Given the description of an element on the screen output the (x, y) to click on. 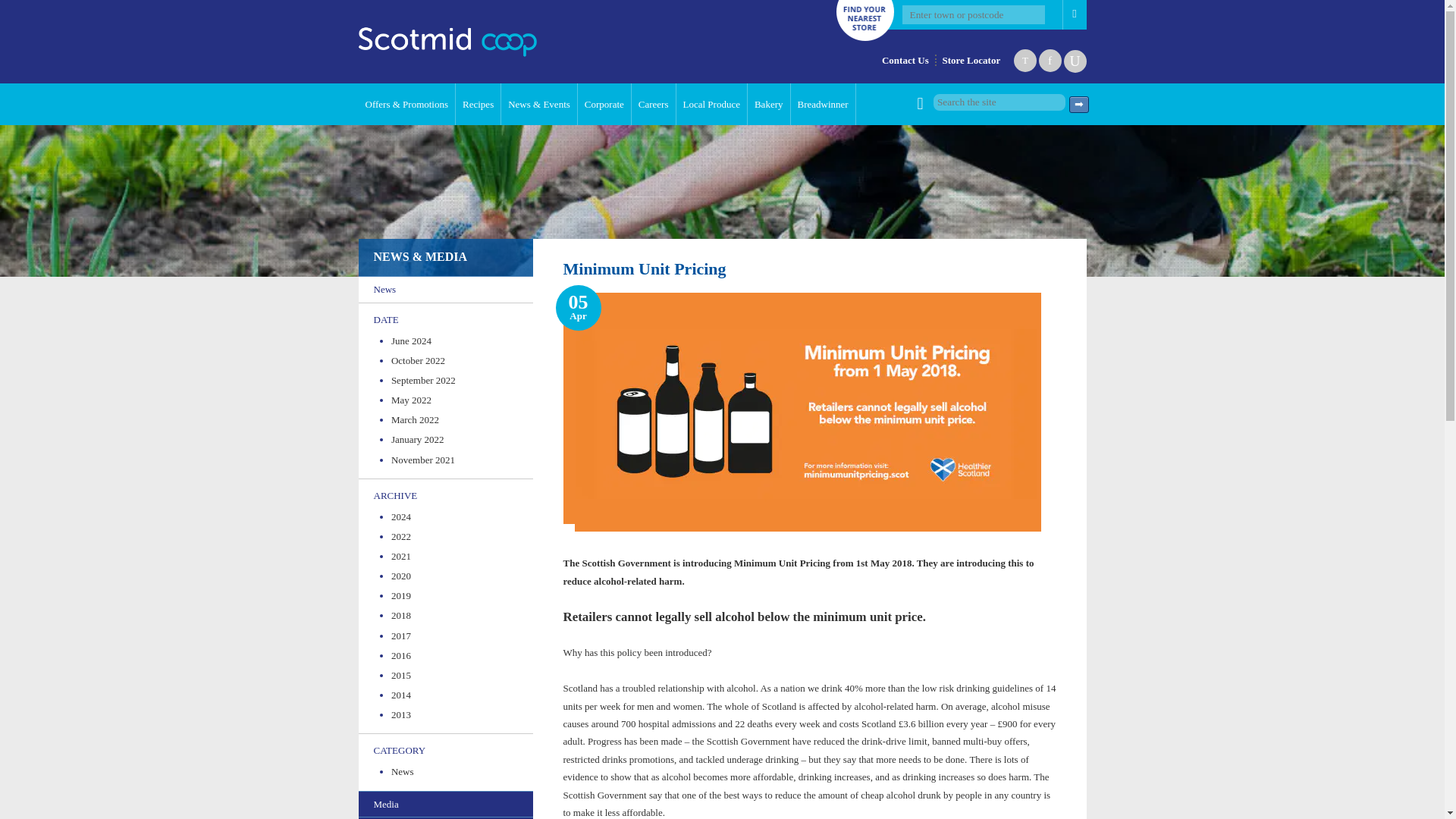
May 2022 (454, 399)
Subscribe to us on YouTube (1074, 60)
View all posts in News (454, 771)
2022 (454, 536)
Corporate (604, 104)
News (445, 289)
September 2022 (454, 380)
Local Produce (712, 104)
January 2022 (454, 439)
2021 (454, 556)
2024 (454, 517)
Bakery (769, 104)
Breadwinner (823, 104)
Follow us on Twitter (1024, 60)
Careers (654, 104)
